Given the description of an element on the screen output the (x, y) to click on. 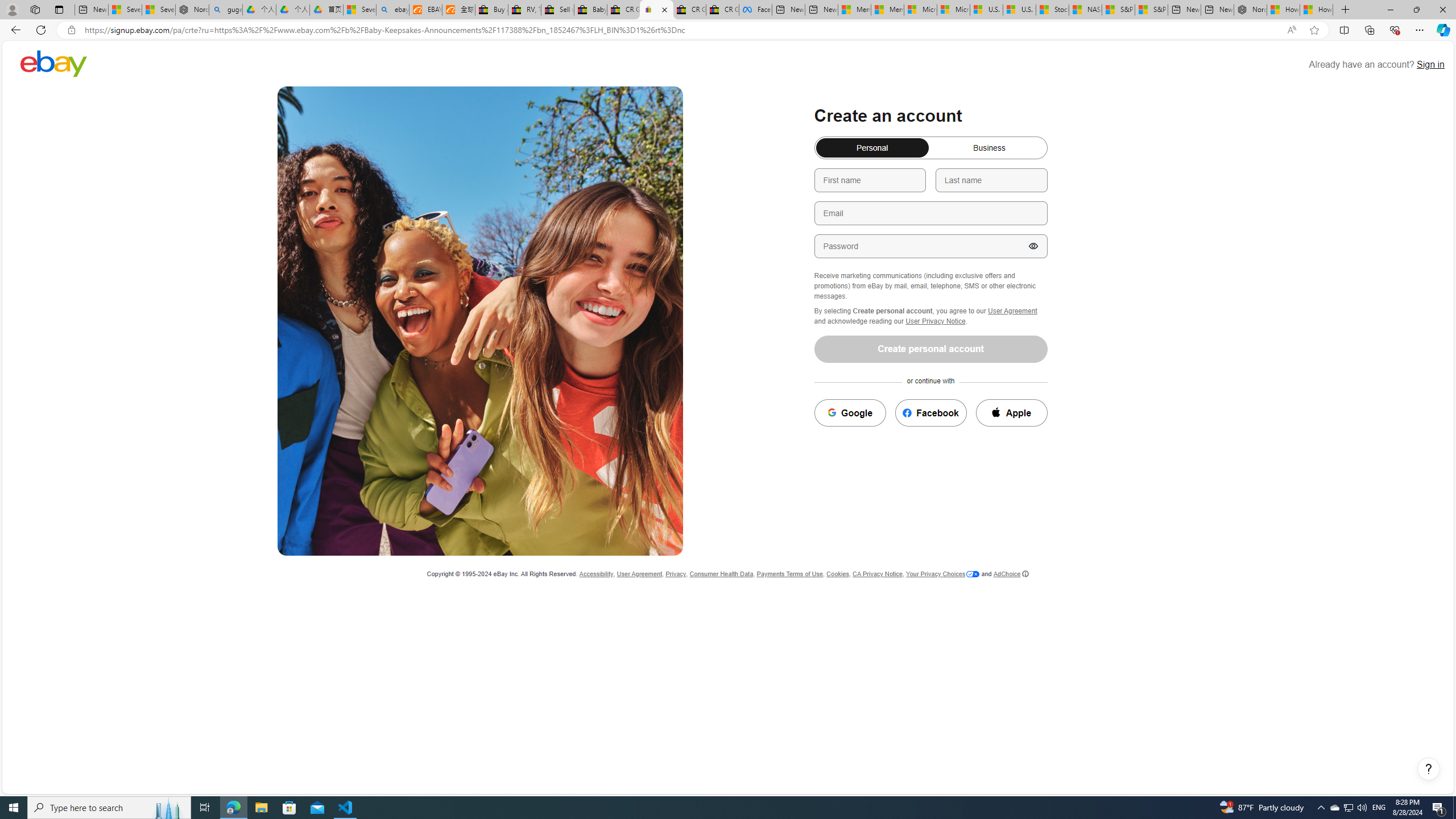
CA Privacy Notice (876, 573)
Password (929, 246)
User Agreement (638, 573)
Cookies (837, 573)
Register: Create a personal eBay account (656, 9)
